Given the description of an element on the screen output the (x, y) to click on. 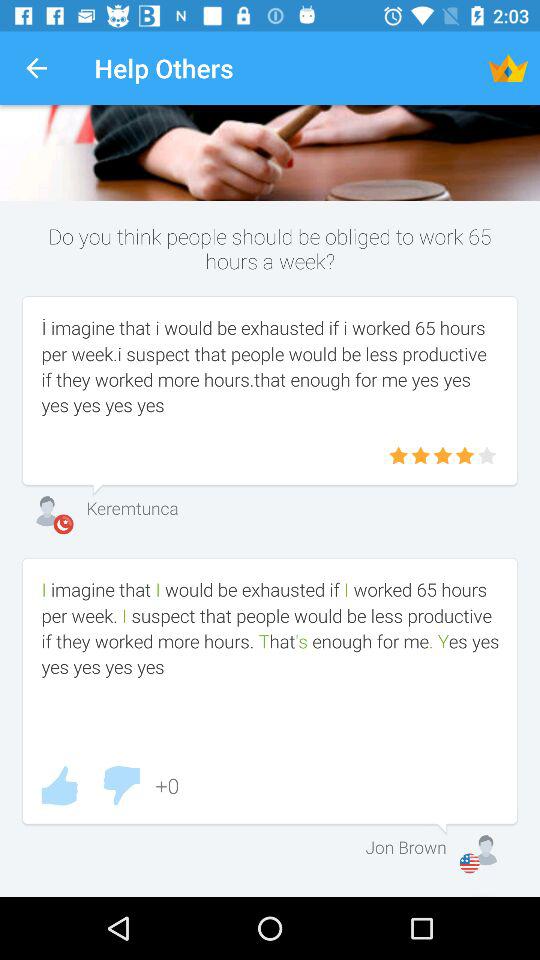
thumbs up vote (59, 785)
